Given the description of an element on the screen output the (x, y) to click on. 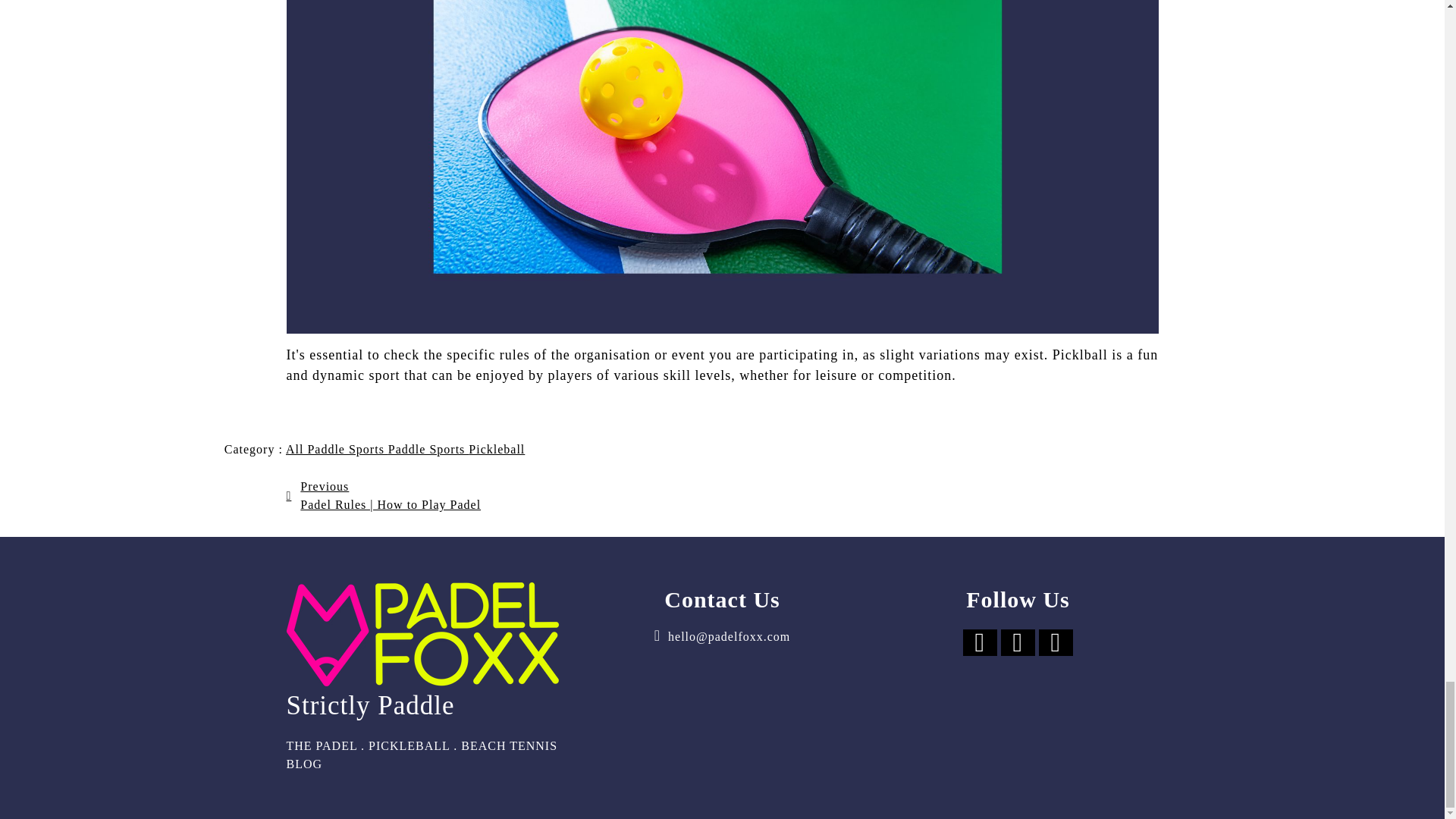
Strictly Paddle (426, 698)
fab fa-facebook-square (979, 642)
Paddle Sports (428, 449)
fab fa-instagram (1056, 642)
cropped-padelfoxx-pink-neon-yellow-logo.png (422, 634)
All Paddle Sports (336, 449)
fab fa-twitter (1018, 642)
Pickleball (496, 449)
